Given the description of an element on the screen output the (x, y) to click on. 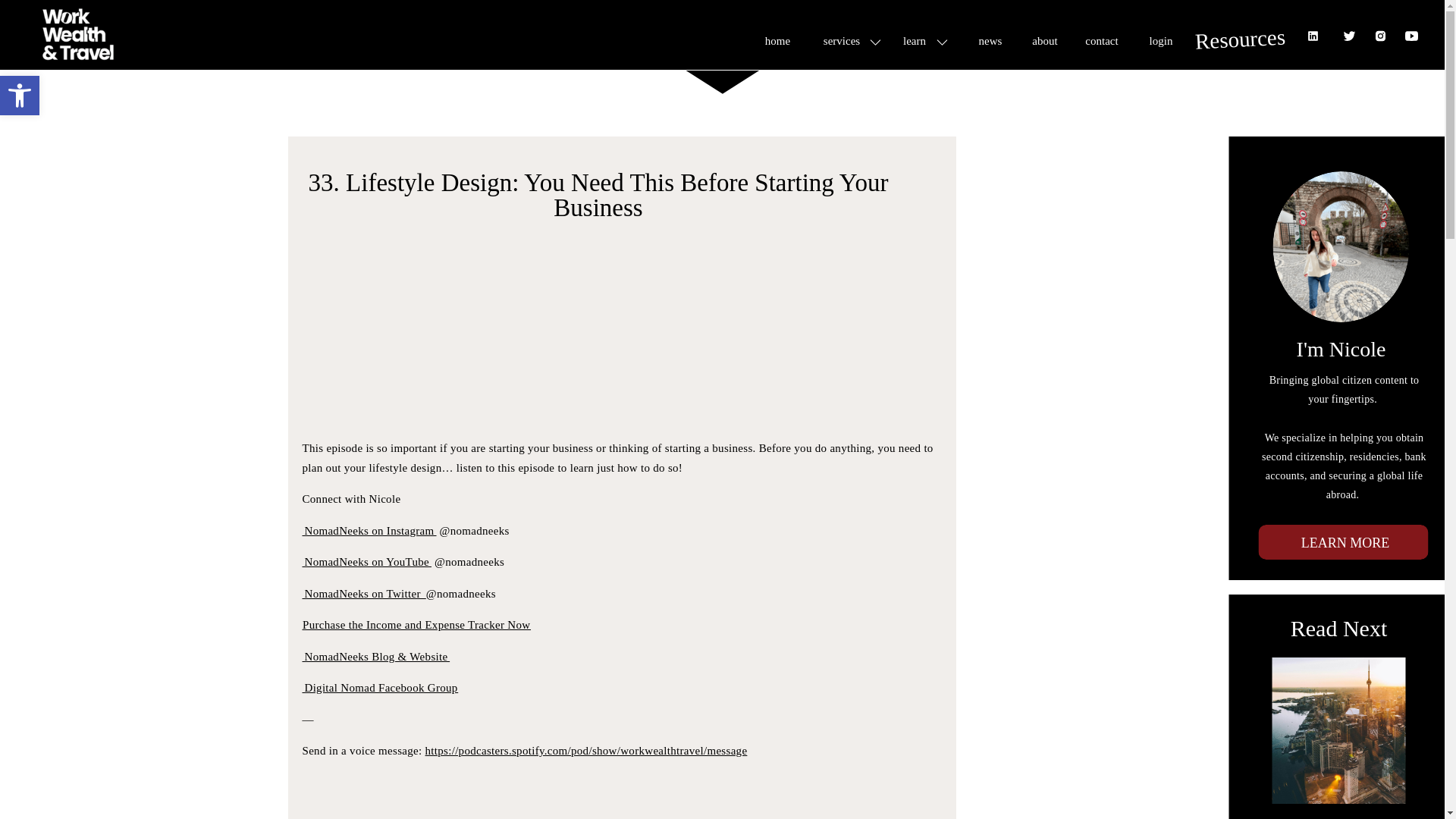
learn (914, 39)
about (1045, 40)
contact (19, 95)
Readable Font (1102, 38)
Links Underline (19, 95)
login (989, 38)
Grayscale (1160, 38)
